Given the description of an element on the screen output the (x, y) to click on. 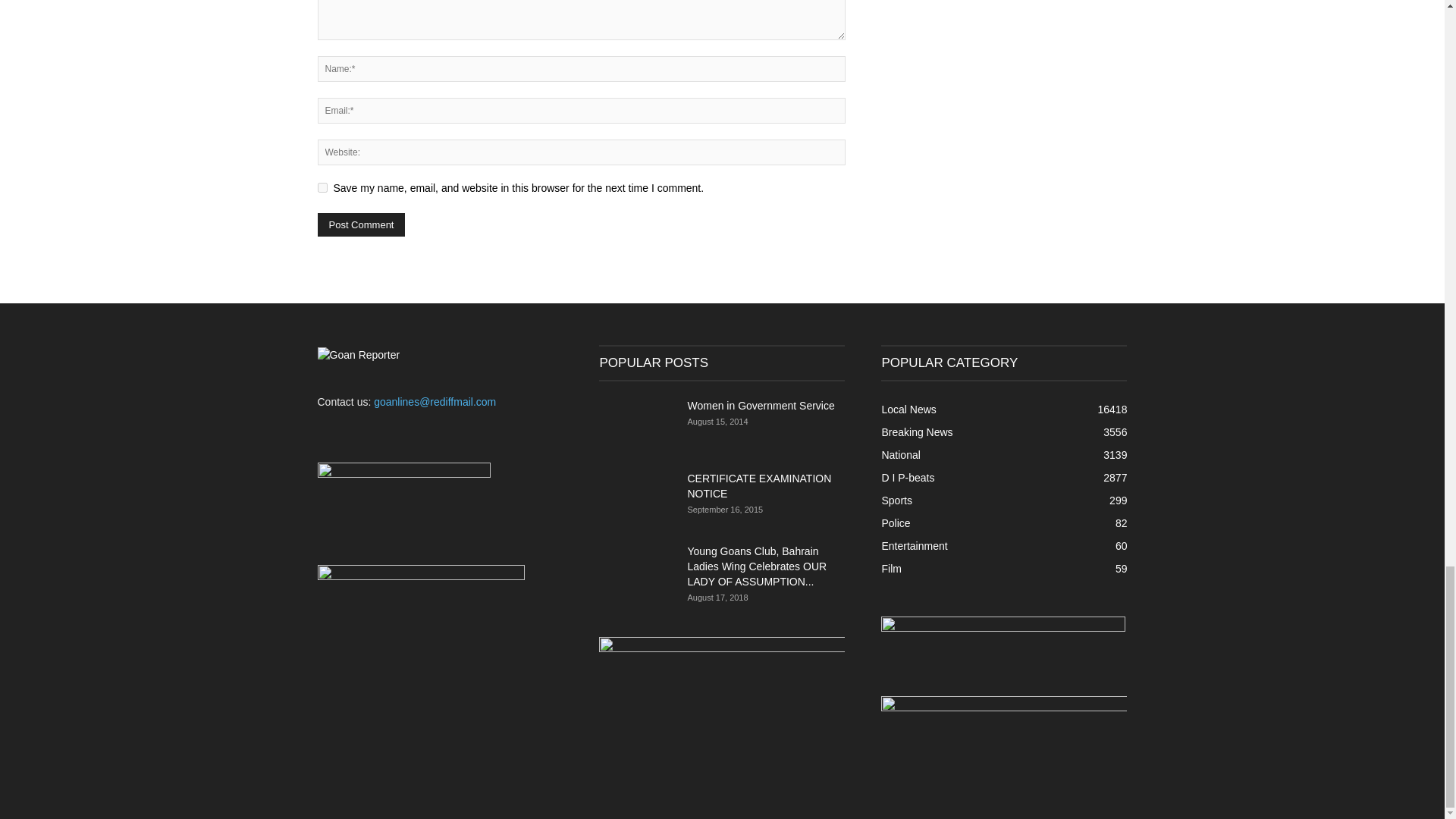
yes (321, 187)
Post Comment (360, 224)
Goan Reporter (357, 355)
